Given the description of an element on the screen output the (x, y) to click on. 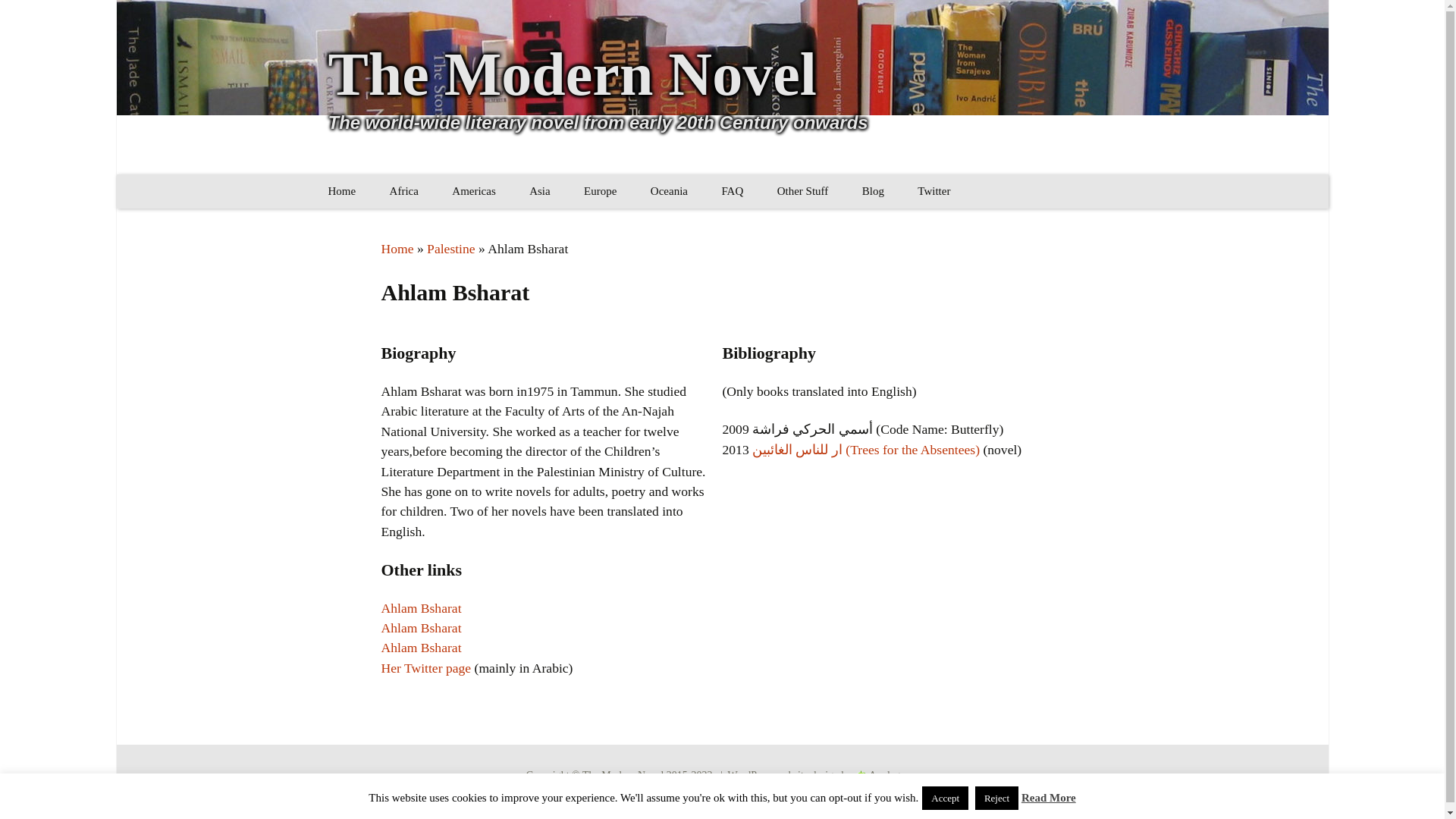
Palestine (451, 248)
FAQ (732, 191)
My Book Lists (837, 225)
Ahlam Bsharat (420, 607)
Africa (403, 191)
Home (342, 191)
Oceania (668, 191)
